Given the description of an element on the screen output the (x, y) to click on. 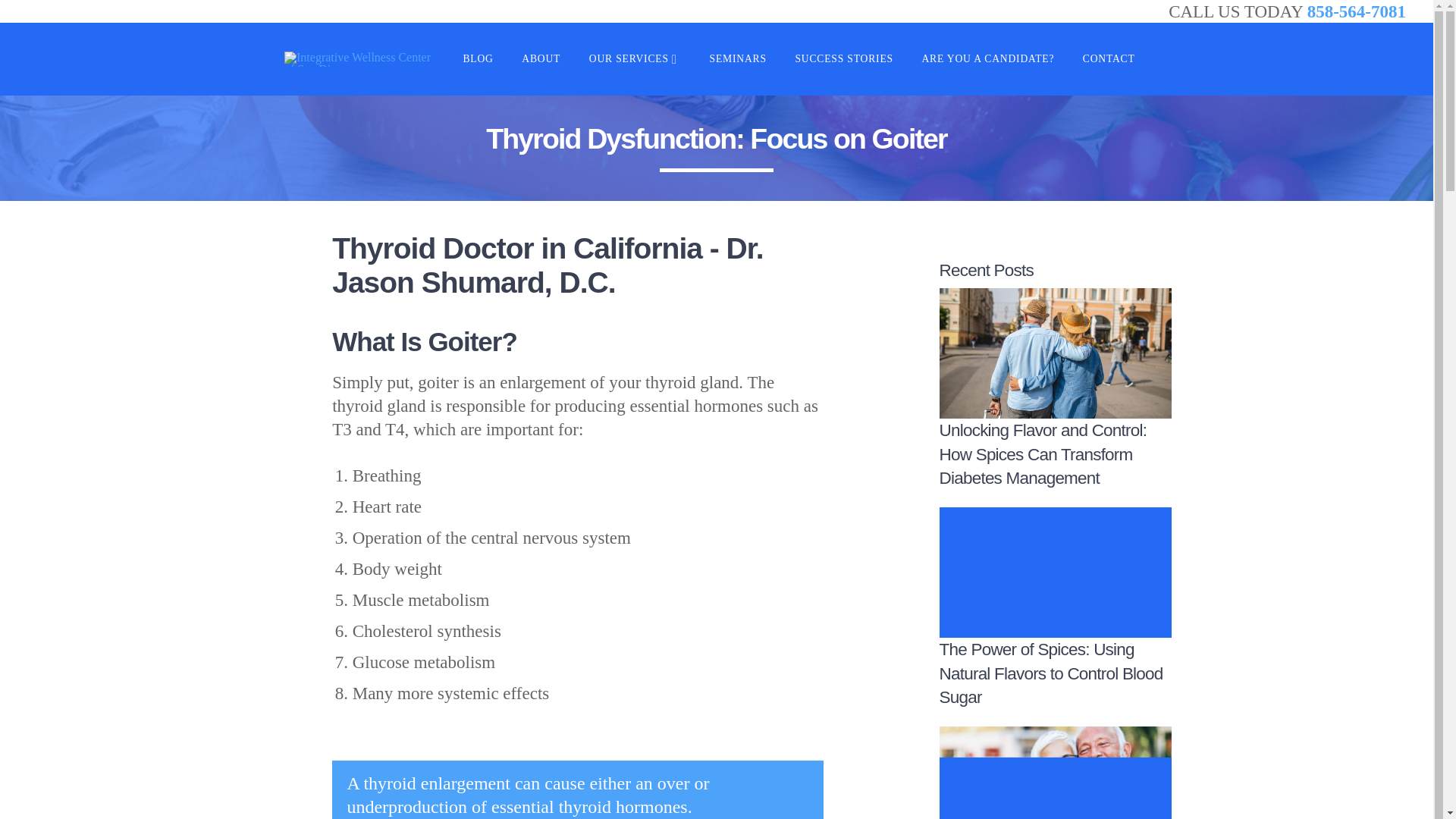
SUCCESS STORIES (843, 58)
858-564-7081 (1356, 10)
OUR SERVICES (635, 58)
ABOUT (539, 58)
CONTACT (1108, 58)
ARE YOU A CANDIDATE? (987, 58)
